Given the description of an element on the screen output the (x, y) to click on. 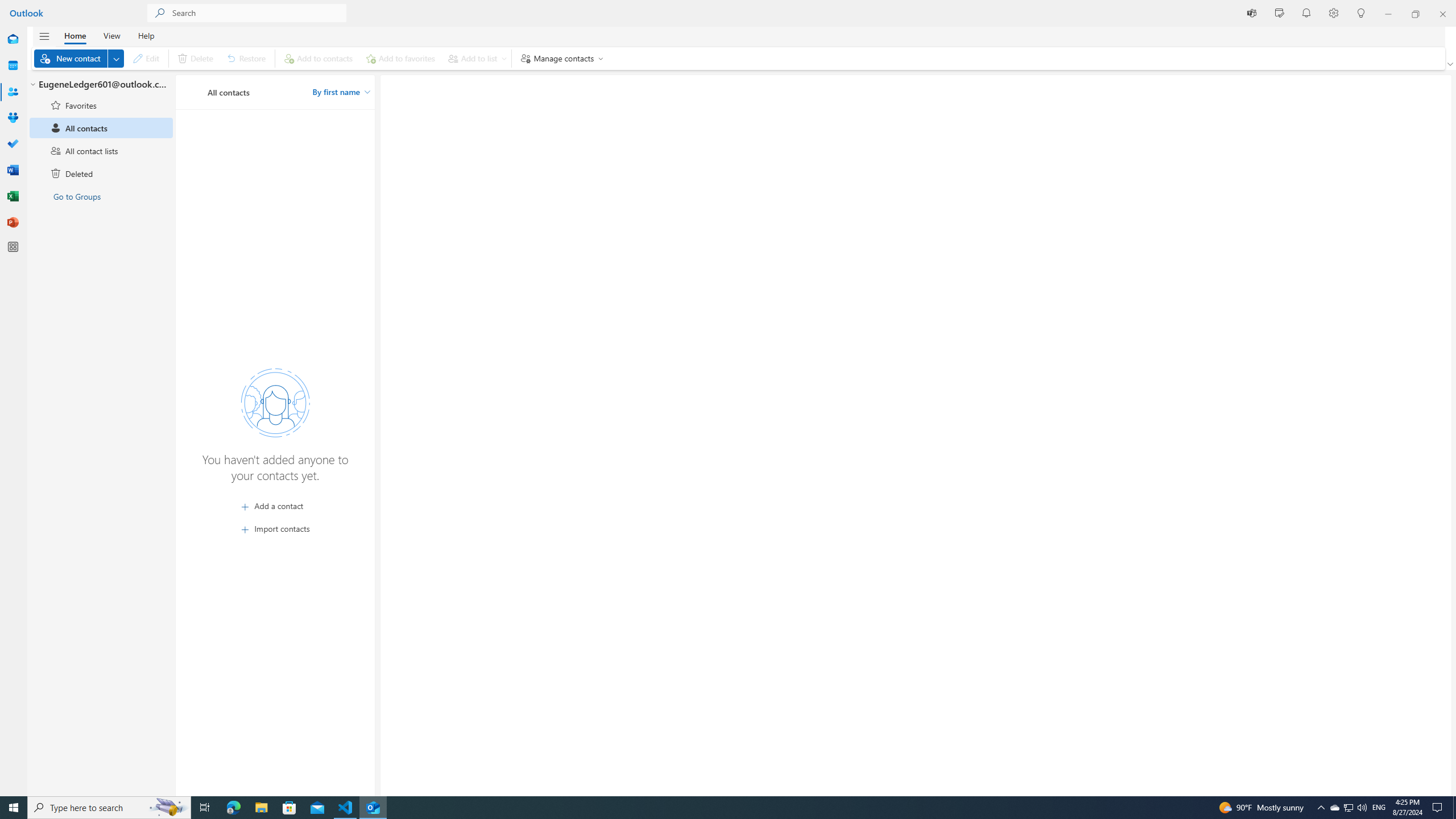
Add to list (475, 58)
Search (258, 12)
Manage contacts (559, 58)
EugeneLedger601@outlook.com (100, 84)
View (111, 35)
Add to contacts (318, 58)
System (6, 6)
New contact (79, 58)
Hide navigation pane (44, 36)
All contacts (101, 127)
Home (74, 35)
Go to Groups (100, 195)
